Given the description of an element on the screen output the (x, y) to click on. 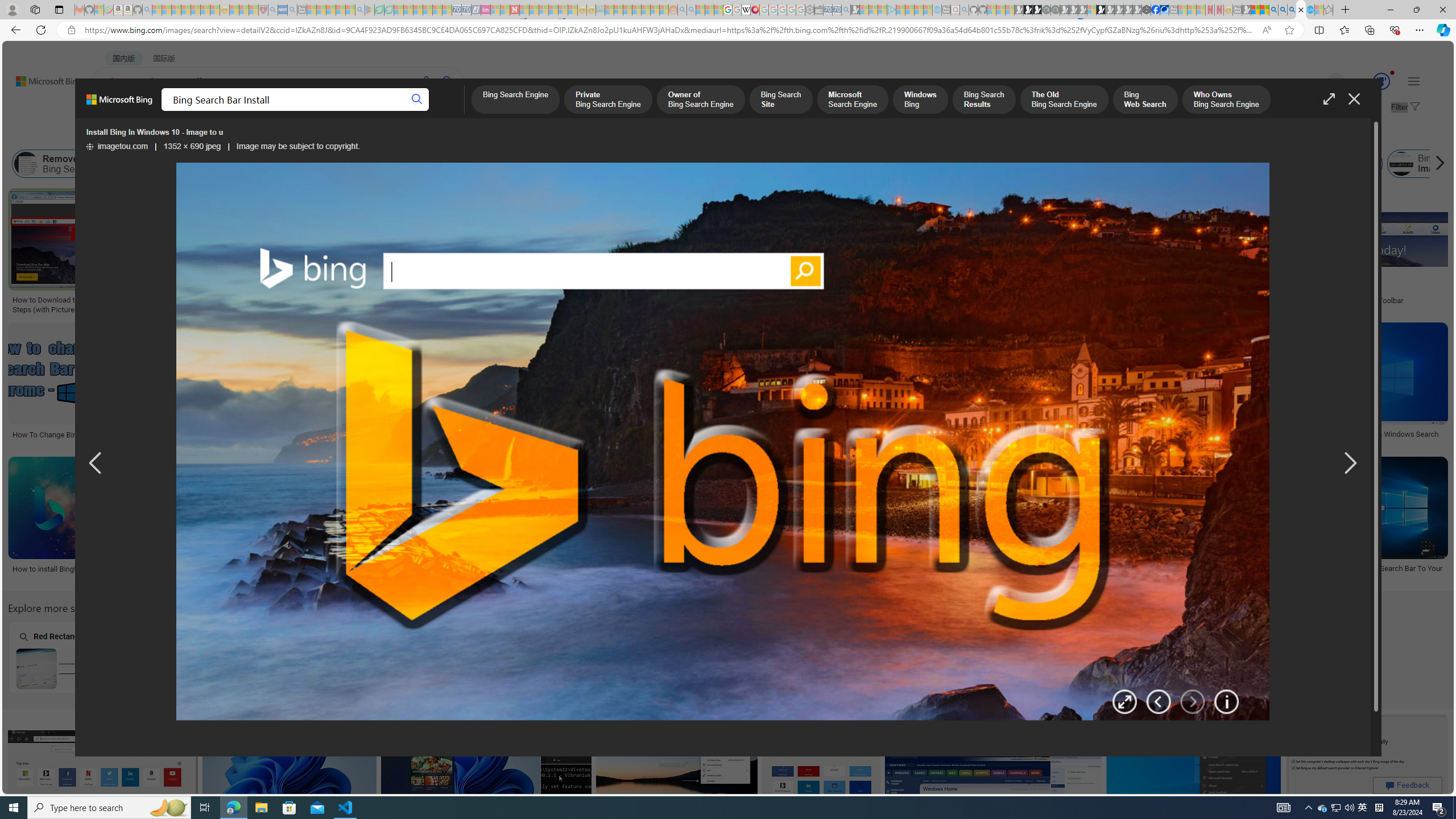
Services - Maintenance | Sky Blue Bikes - Sky Blue Bikes (1309, 9)
MY BING (156, 111)
Settings and quick links (1413, 80)
Image result for Bing Search Bar Install (1366, 763)
Class: b_pri_nav_svg (240, 112)
Bing Search Bar On Home Screen (515, 668)
Install Bing Search Engine (588, 163)
Download Bing Bar, the new Bing Toolbar (1336, 299)
